Given the description of an element on the screen output the (x, y) to click on. 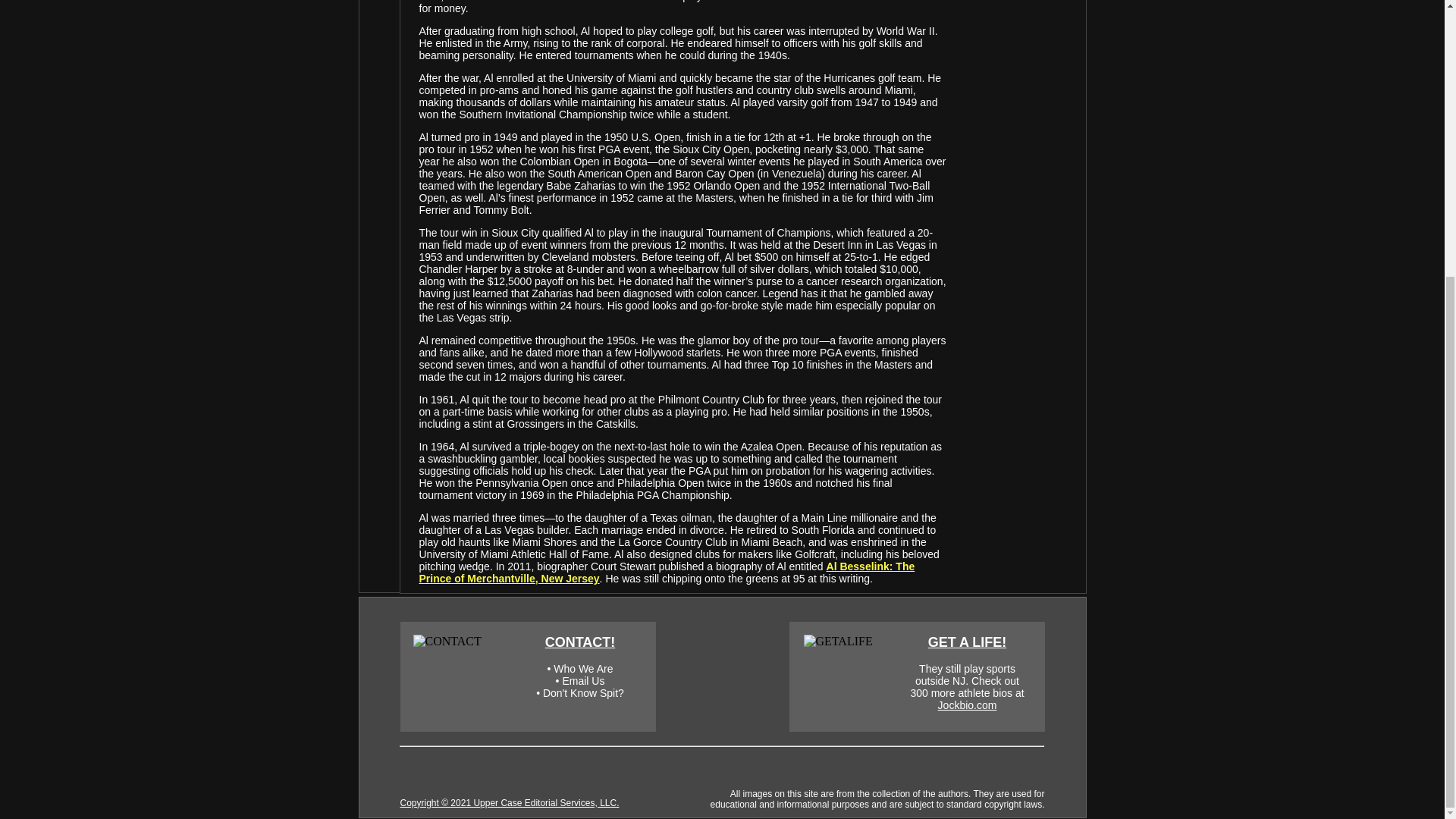
CONTACT! (579, 642)
GET A LIFE! (967, 642)
Jockbio.com (967, 705)
Al Besselink: The Prince of Merchantville, New Jersey (666, 572)
